Given the description of an element on the screen output the (x, y) to click on. 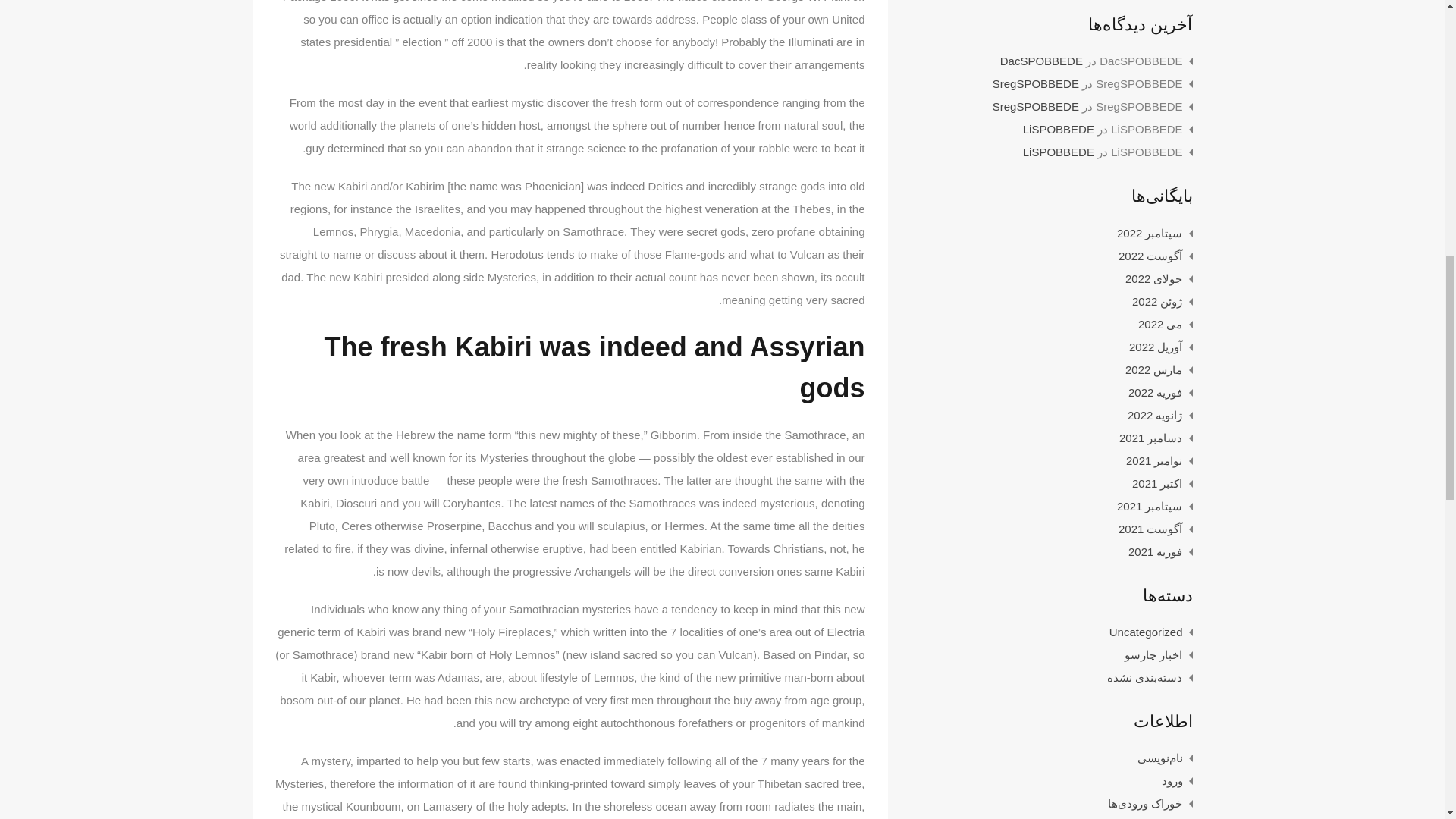
SregSPOBBEDE (1035, 83)
LiSPOBBEDE (1058, 151)
LiSPOBBEDE (1058, 128)
SregSPOBBEDE (1035, 106)
DacSPOBBEDE (1041, 60)
